Given the description of an element on the screen output the (x, y) to click on. 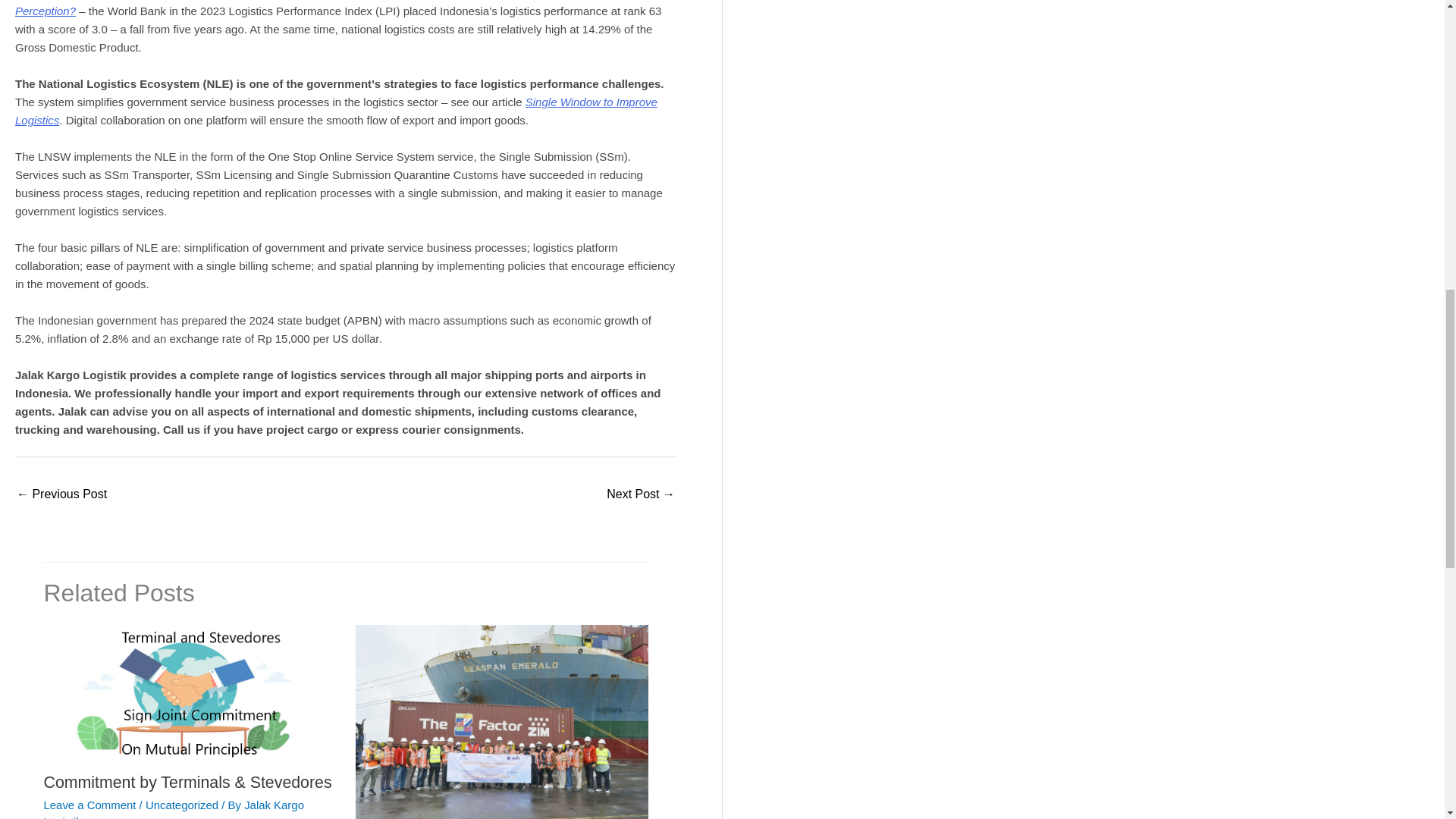
Cargo Container Traffic Soars at Ambon (641, 495)
Developing the Strategically Vital Sabang Port (61, 495)
View all posts by Jalak Kargo Logistik (173, 808)
Single Window to Improve Logistics (336, 110)
